Given the description of an element on the screen output the (x, y) to click on. 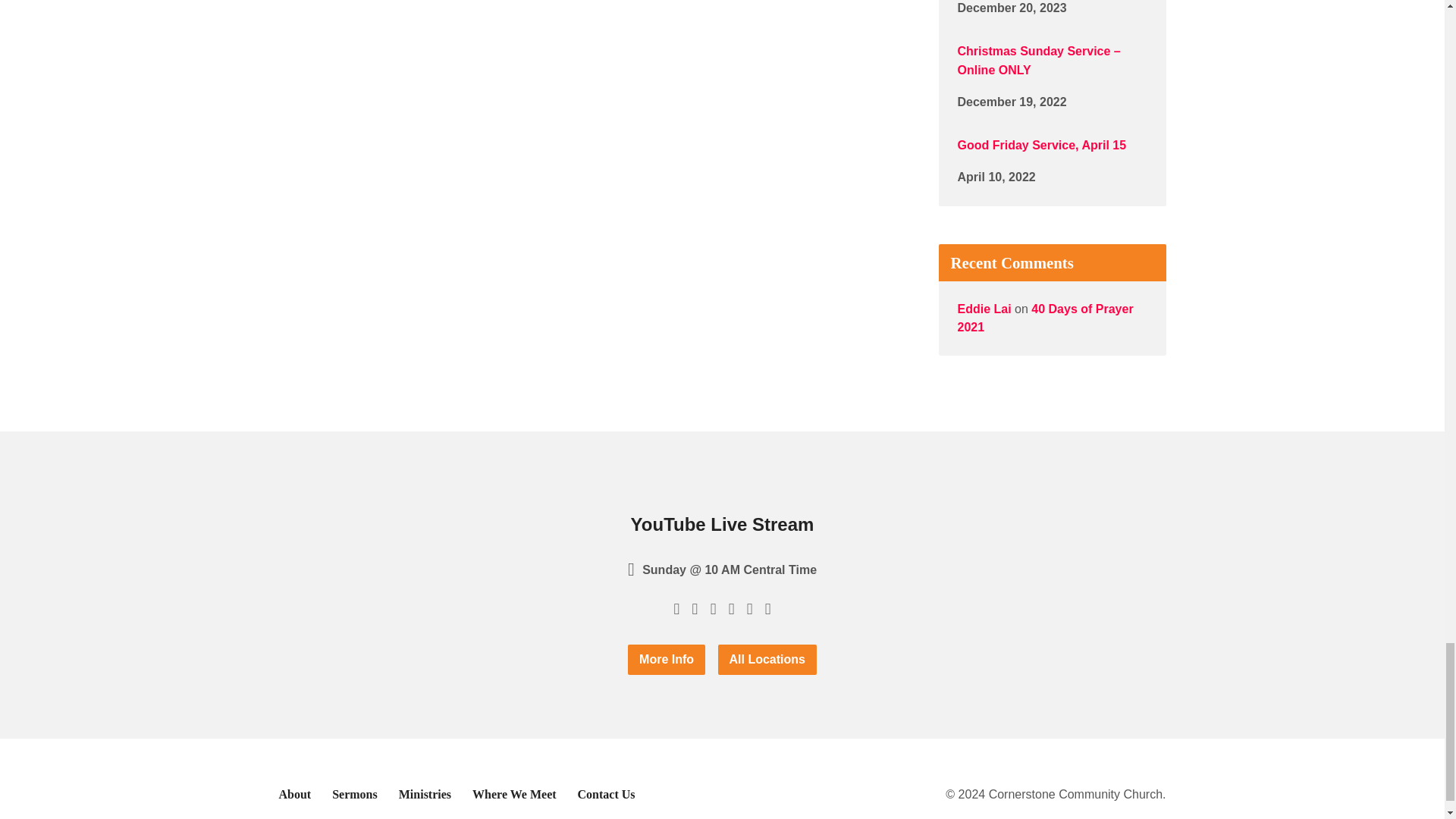
Good Friday Service, April 15 (1040, 144)
